Given the description of an element on the screen output the (x, y) to click on. 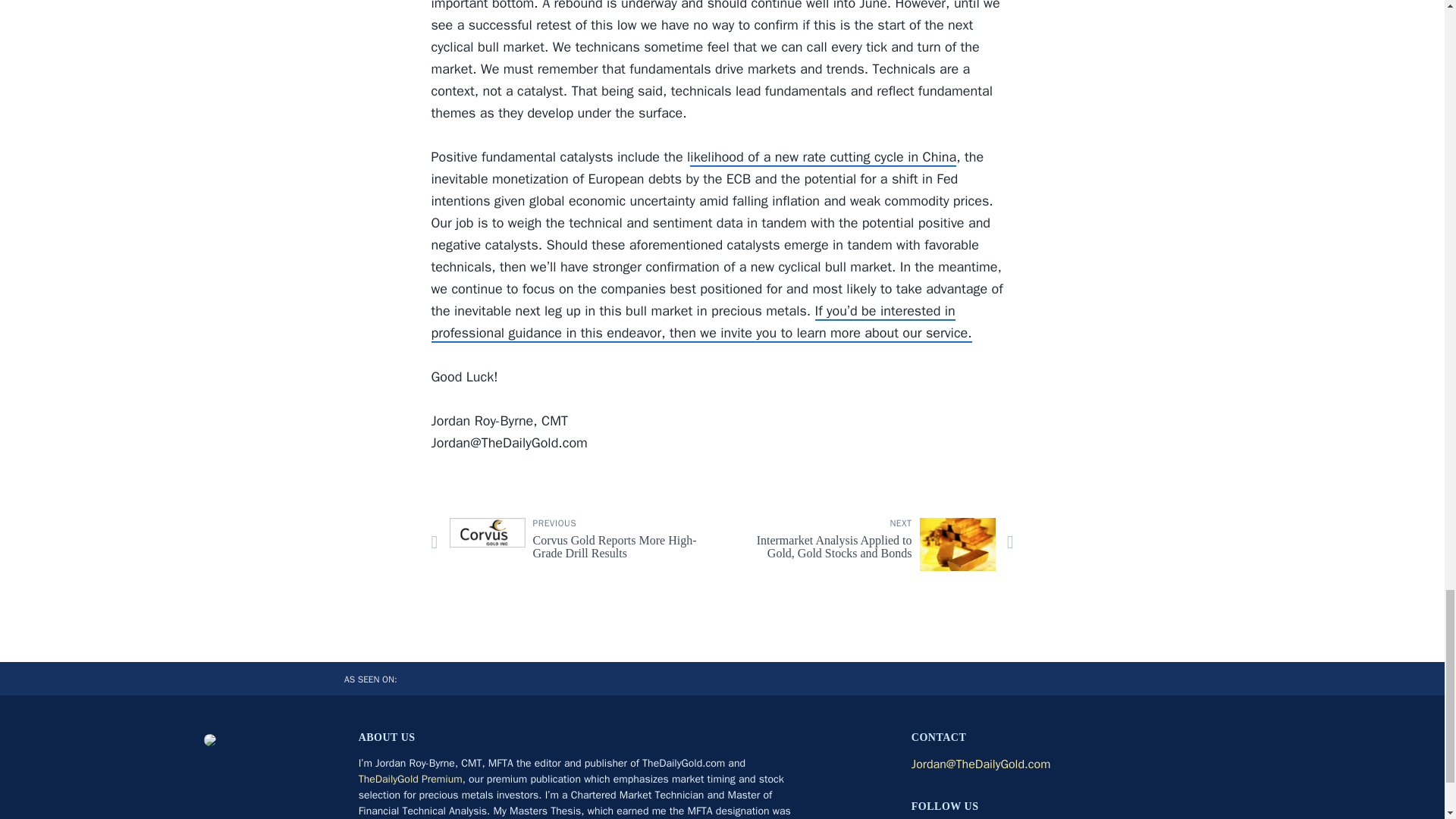
TheDailyGold Premium (570, 543)
ikelihood of a new rate cutting cycle in China (410, 779)
